Given the description of an element on the screen output the (x, y) to click on. 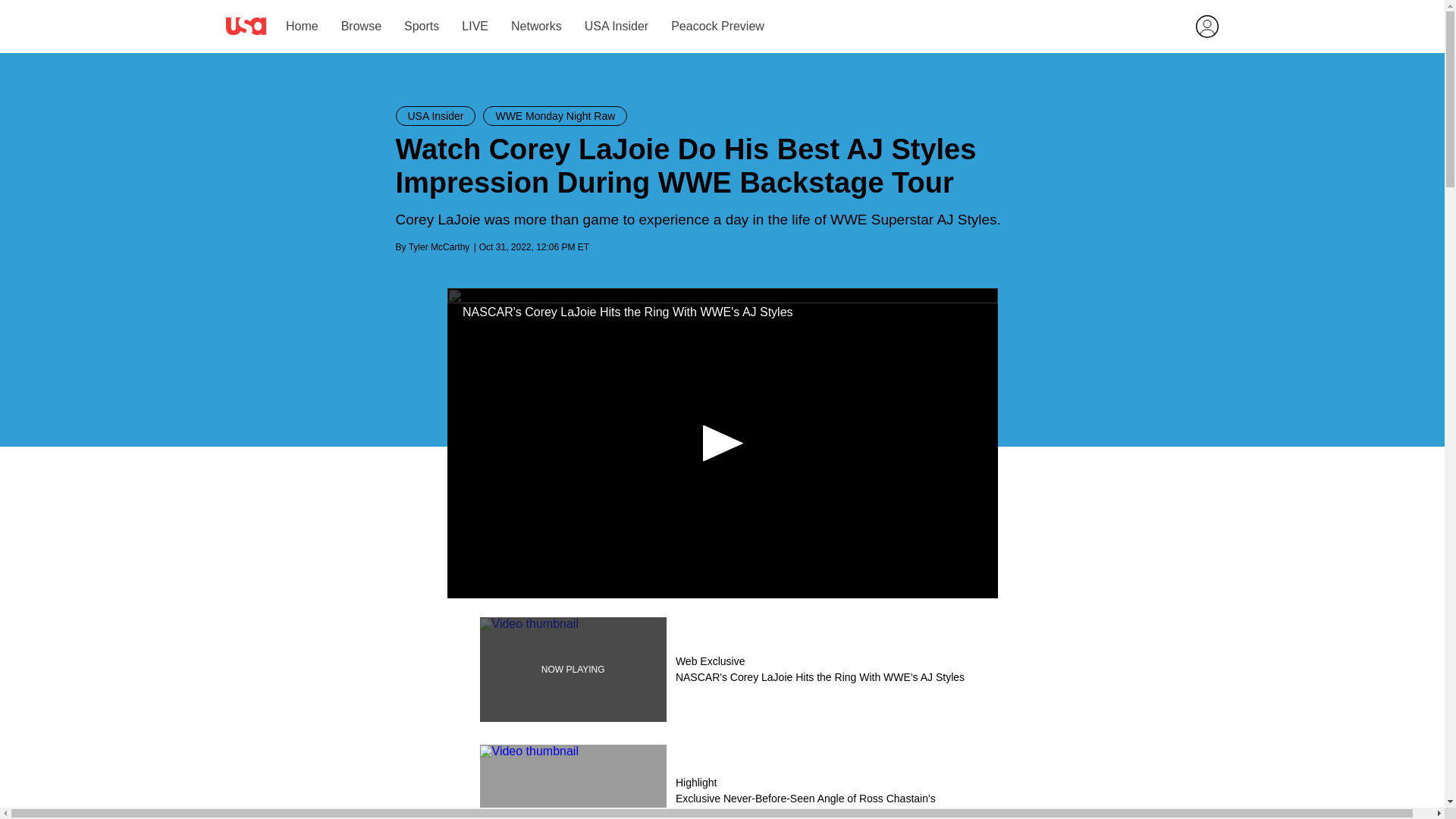
USA Insider (615, 26)
USA (245, 26)
WWE Monday Night Raw (555, 116)
Tyler McCarthy (439, 246)
Peacock Preview (717, 26)
Browse (360, 26)
LIVE (474, 26)
USA Insider (436, 116)
Sports (421, 26)
Home (301, 26)
Networks (535, 26)
